Given the description of an element on the screen output the (x, y) to click on. 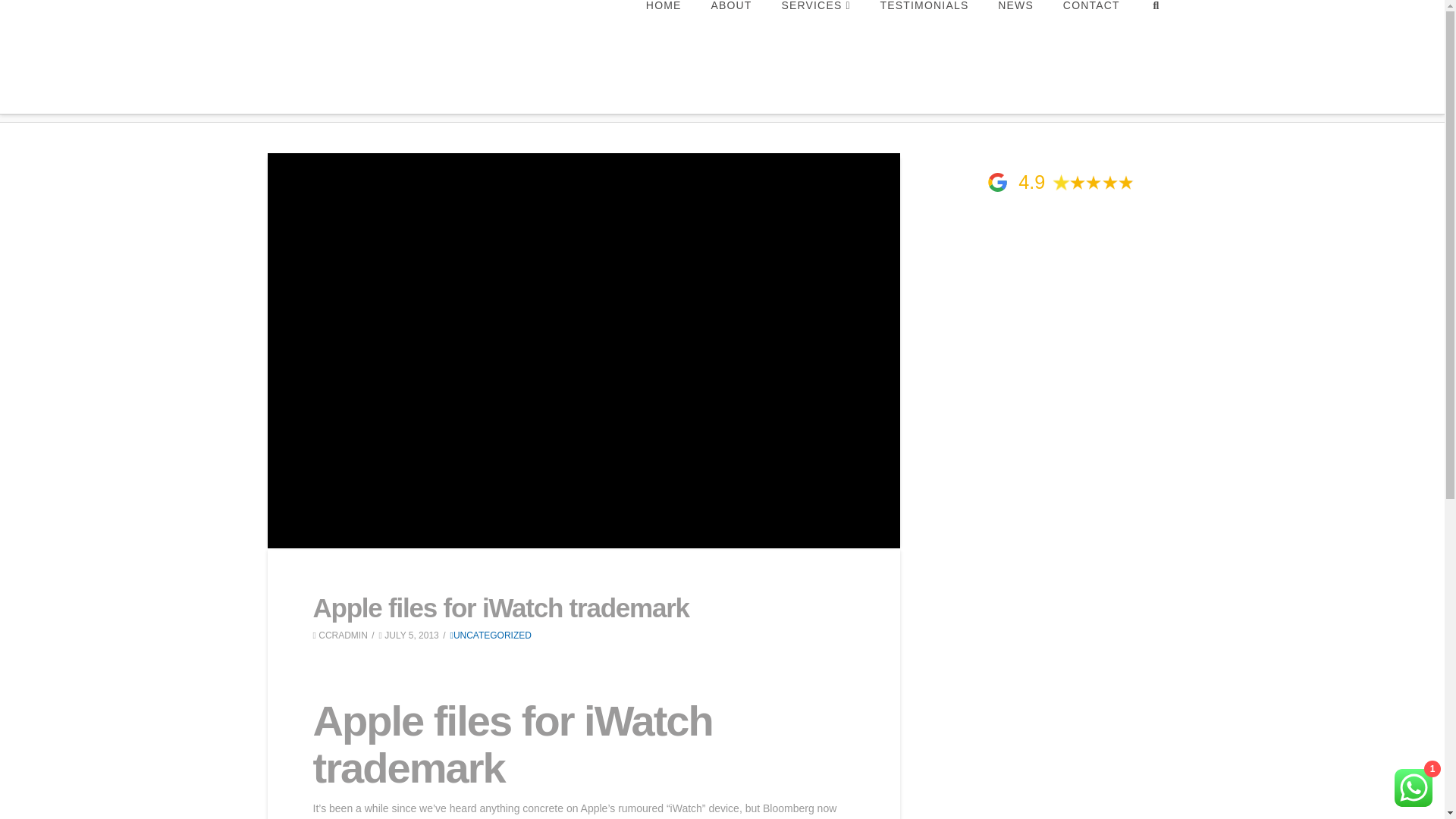
APPLE FILES FOR IWATCH TRADEMARK (518, 94)
You Are Here (518, 94)
UNCATEGORIZED (490, 634)
Powered by Google (997, 181)
TESTIMONIALS (923, 40)
SERVICES (814, 40)
CONTACT (1091, 40)
NEWS (409, 94)
